Given the description of an element on the screen output the (x, y) to click on. 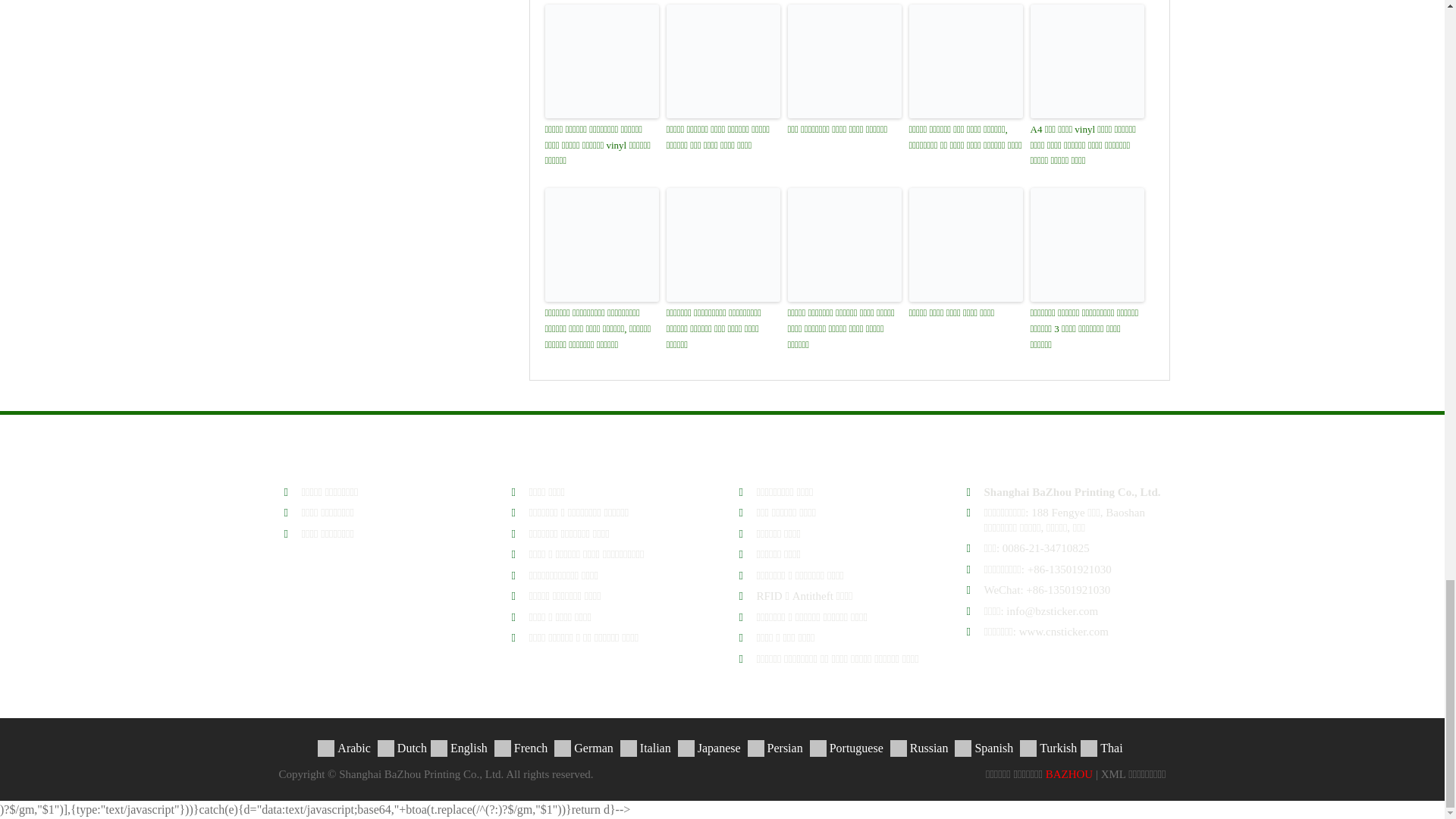
English (458, 747)
German (583, 747)
Turkish (1048, 747)
French (521, 747)
Japanese (709, 747)
Dutch (401, 747)
Arabic (344, 747)
Russian (919, 747)
Portuguese (846, 747)
Spanish (984, 747)
